Given the description of an element on the screen output the (x, y) to click on. 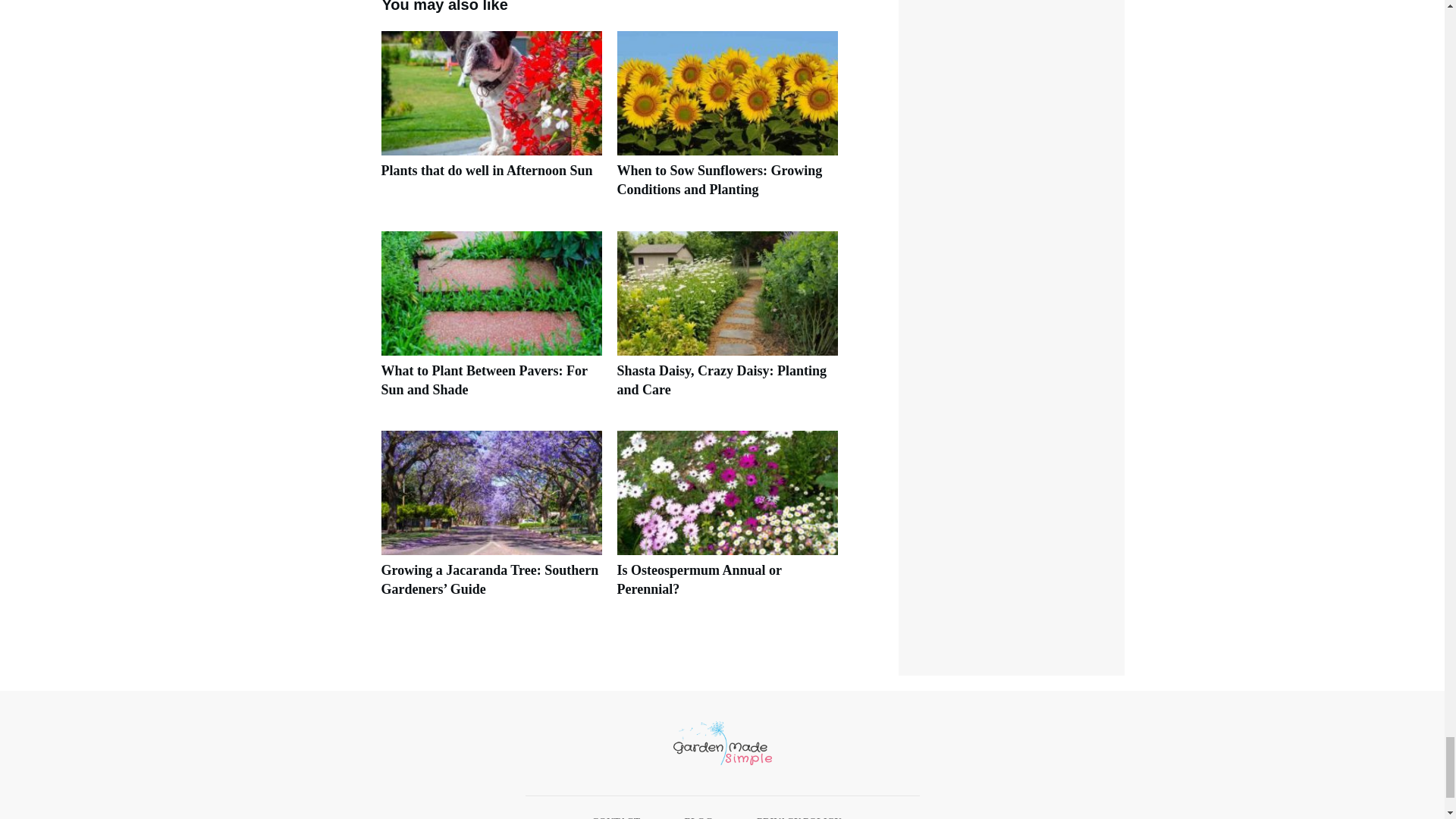
When to Sow Sunflowers: Growing Conditions and Planting (727, 122)
Is Osteospermum Annual or Perennial? (699, 579)
What to Plant Between Pavers: For Sun and Shade (490, 322)
Shasta Daisy, Crazy Daisy: Planting and Care (727, 322)
What to Plant Between Pavers: For Sun and Shade (483, 380)
When to Sow Sunflowers: Growing Conditions and Planting (719, 179)
Shasta Daisy, Crazy Daisy: Planting and Care (722, 380)
Plants that do well in Afternoon Sun (486, 170)
Plants that do well in Afternoon Sun (490, 122)
Is Osteospermum Annual or Perennial? (727, 522)
